Given the description of an element on the screen output the (x, y) to click on. 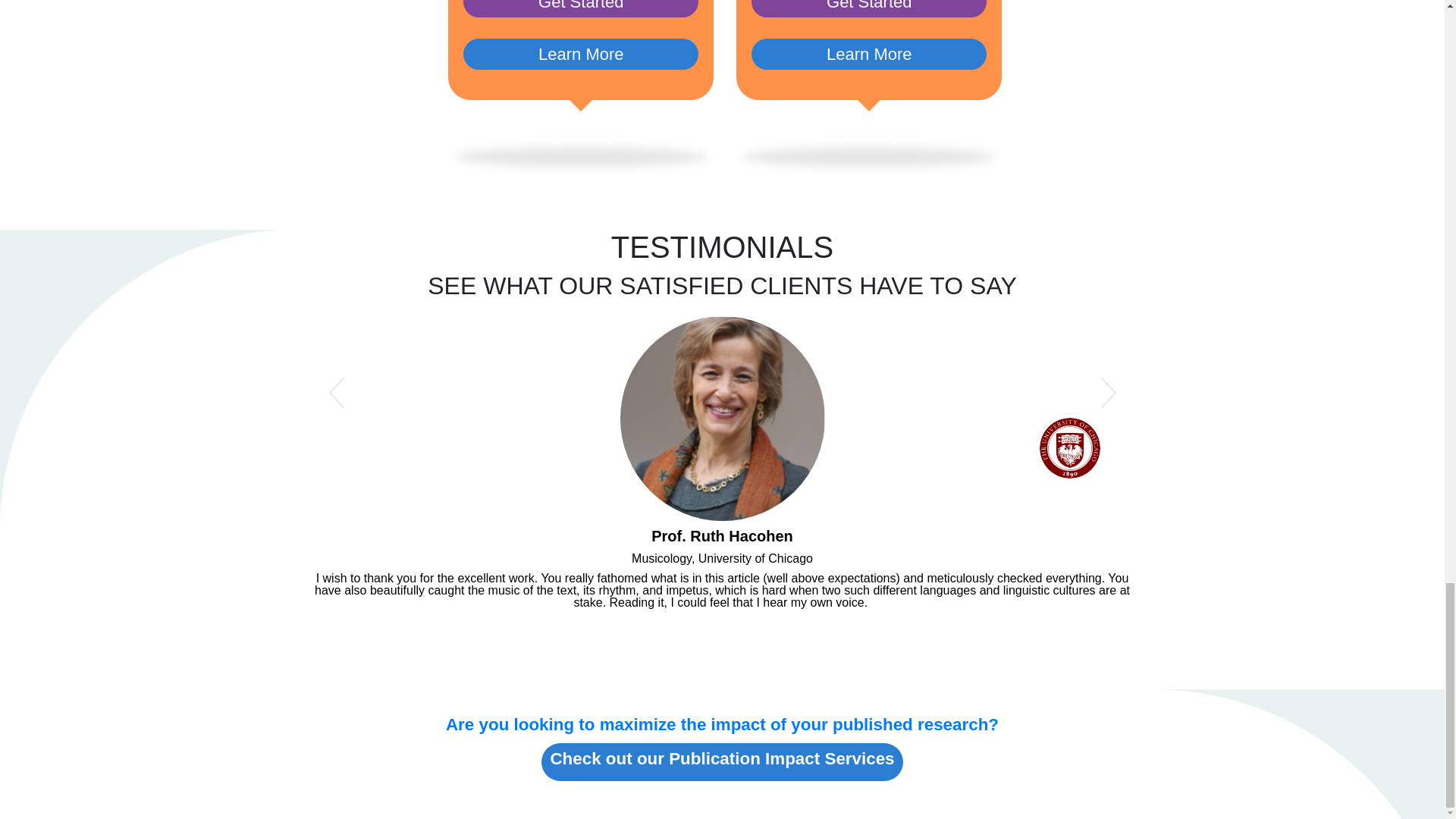
Get Started (580, 8)
Learn More (869, 53)
Get Started (869, 8)
Learn More (580, 53)
Check out our Publication Impact Services (721, 761)
